Given the description of an element on the screen output the (x, y) to click on. 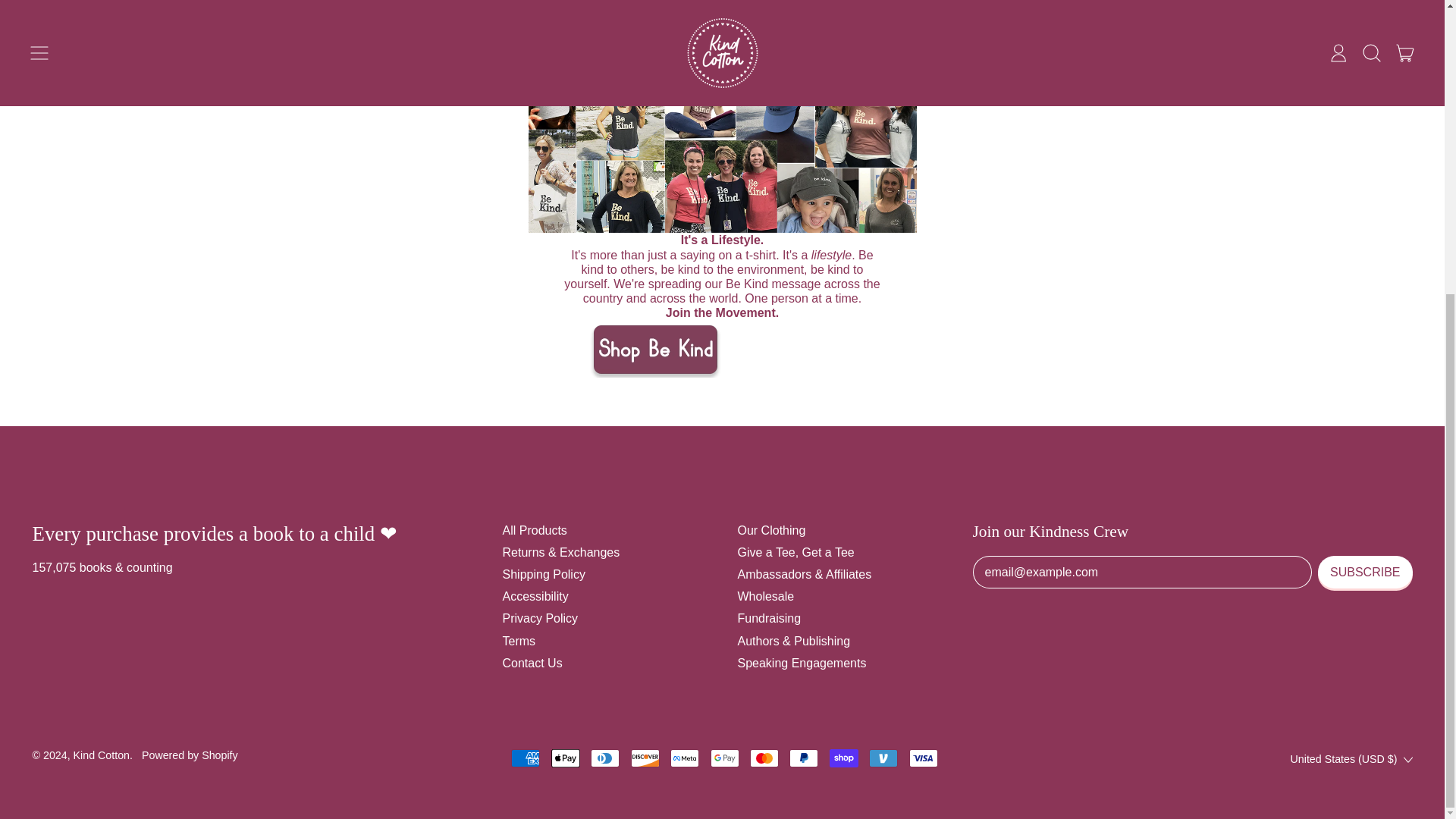
Accessibility (534, 595)
Fundraising (768, 617)
Speaking Engagements (801, 662)
SUBSCRIBE (1364, 572)
Contact Us (532, 662)
Give a Tee, Get a Tee (794, 552)
Kind Cotton (101, 755)
Our Clothing (770, 530)
Powered by Shopify (189, 755)
Terms (518, 640)
All Products (534, 530)
Privacy Policy (540, 617)
Wholesale (764, 595)
Shipping Policy (543, 574)
